Given the description of an element on the screen output the (x, y) to click on. 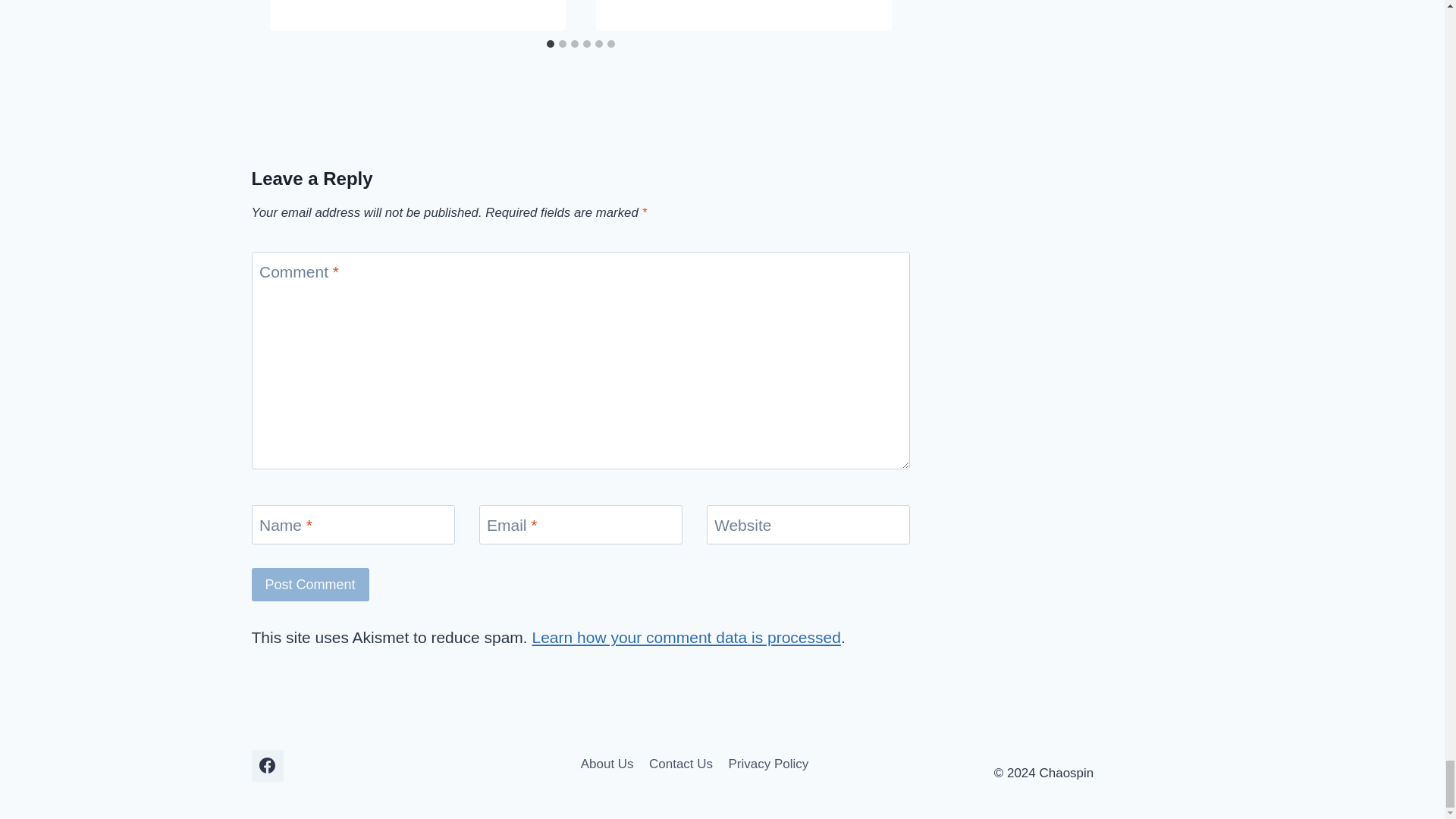
Post Comment (310, 584)
